Given the description of an element on the screen output the (x, y) to click on. 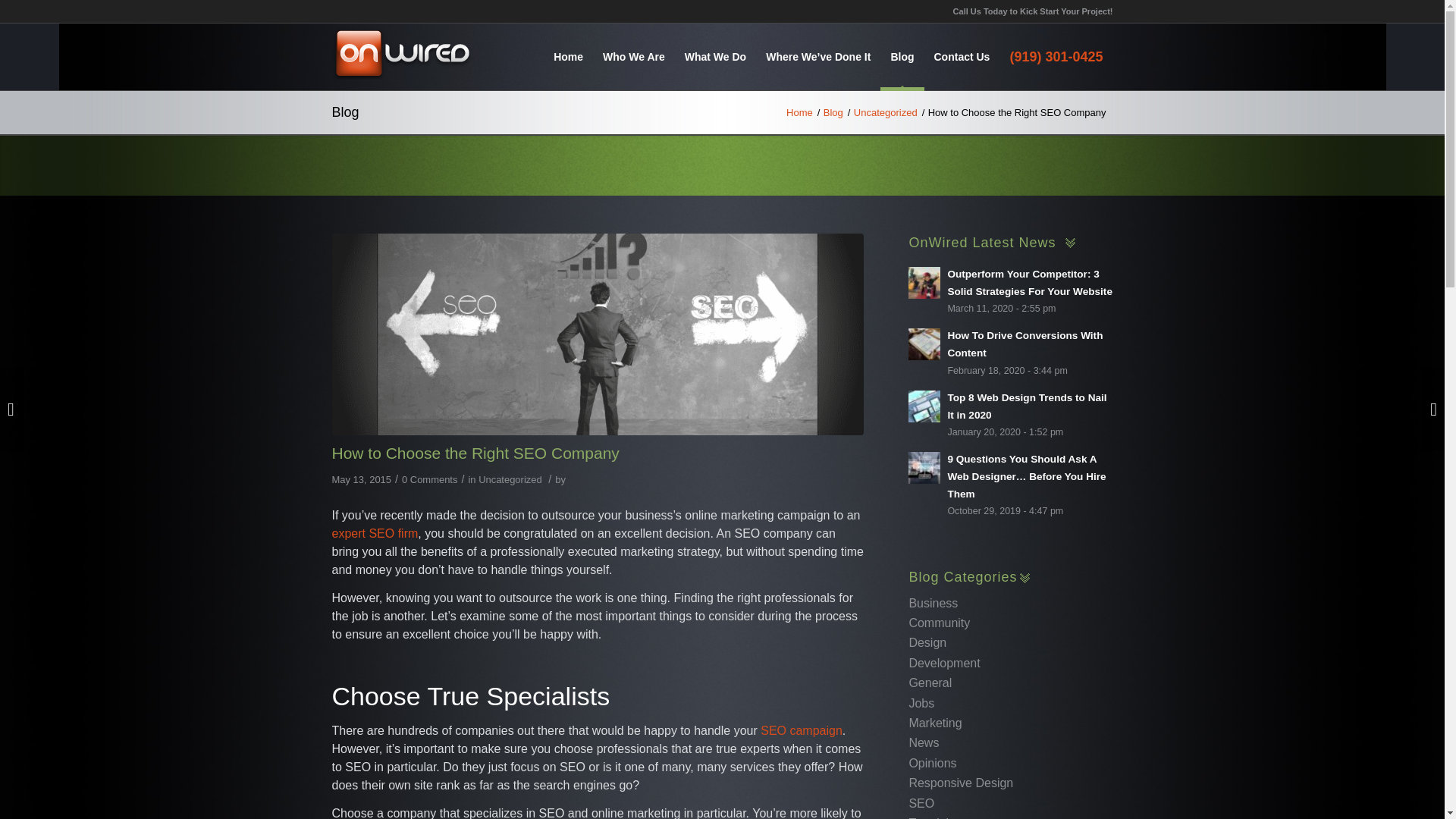
Blog (901, 56)
Call Today to Get a Quote! (1055, 56)
Blog (833, 112)
Home (799, 112)
Blog (722, 112)
OnWired (799, 112)
Permanent Link: How to Choose the Right SEO Company (475, 452)
Home (567, 56)
What We Do (715, 56)
Blog (833, 112)
Permanent Link: Blog (722, 112)
How to Choose the Right SEO Company (597, 334)
Contact Us (960, 56)
Who We Are (633, 56)
